Given the description of an element on the screen output the (x, y) to click on. 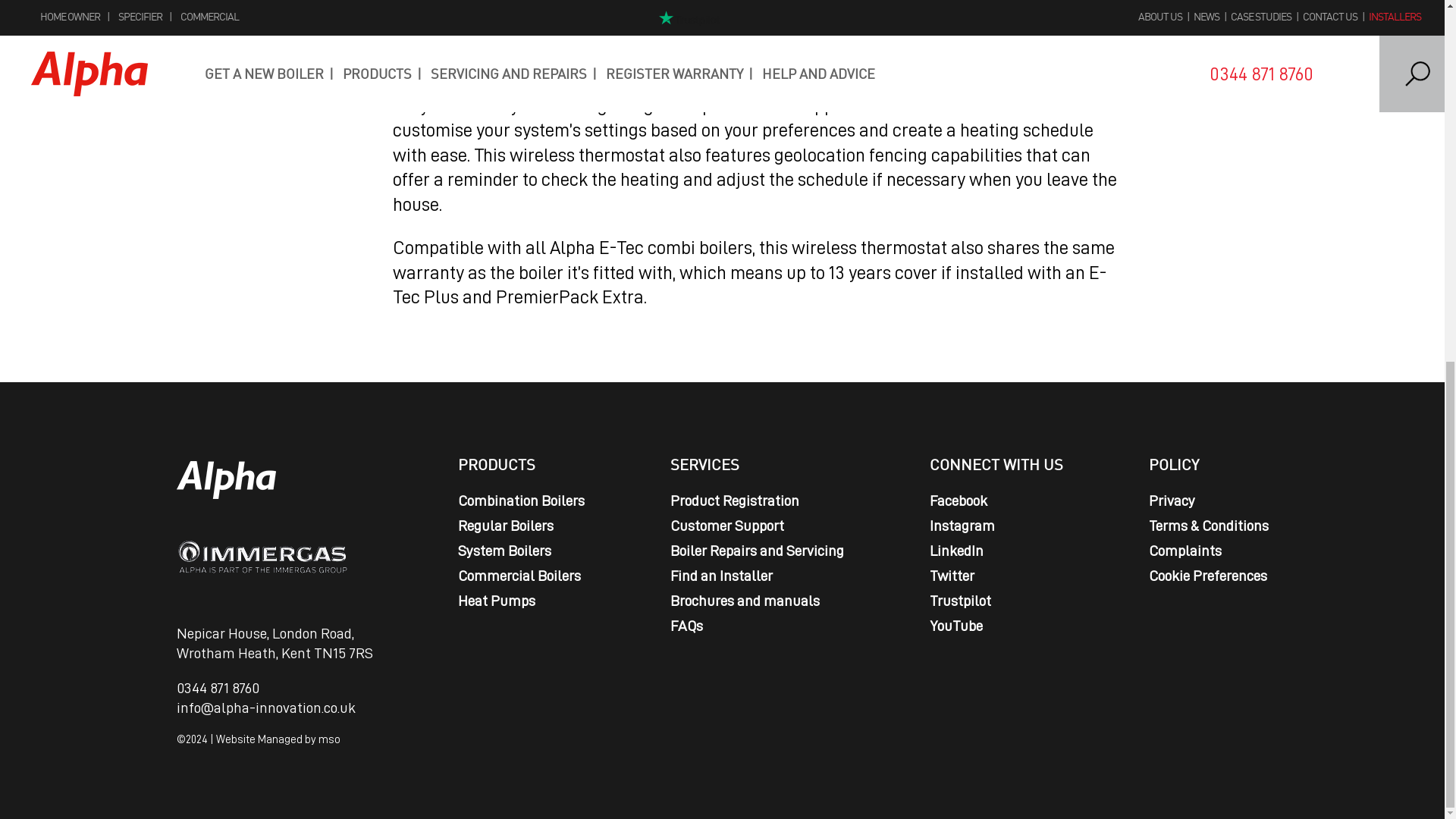
System Boilers (504, 549)
Regular Boilers (505, 525)
Customer Support (726, 525)
FAQs (686, 625)
Website Managed by mso (277, 738)
Combination Boilers (521, 499)
LinkedIn (957, 549)
Boiler Repairs and Servicing (756, 549)
Commercial Boilers (519, 575)
Heat Pumps (496, 599)
